Given the description of an element on the screen output the (x, y) to click on. 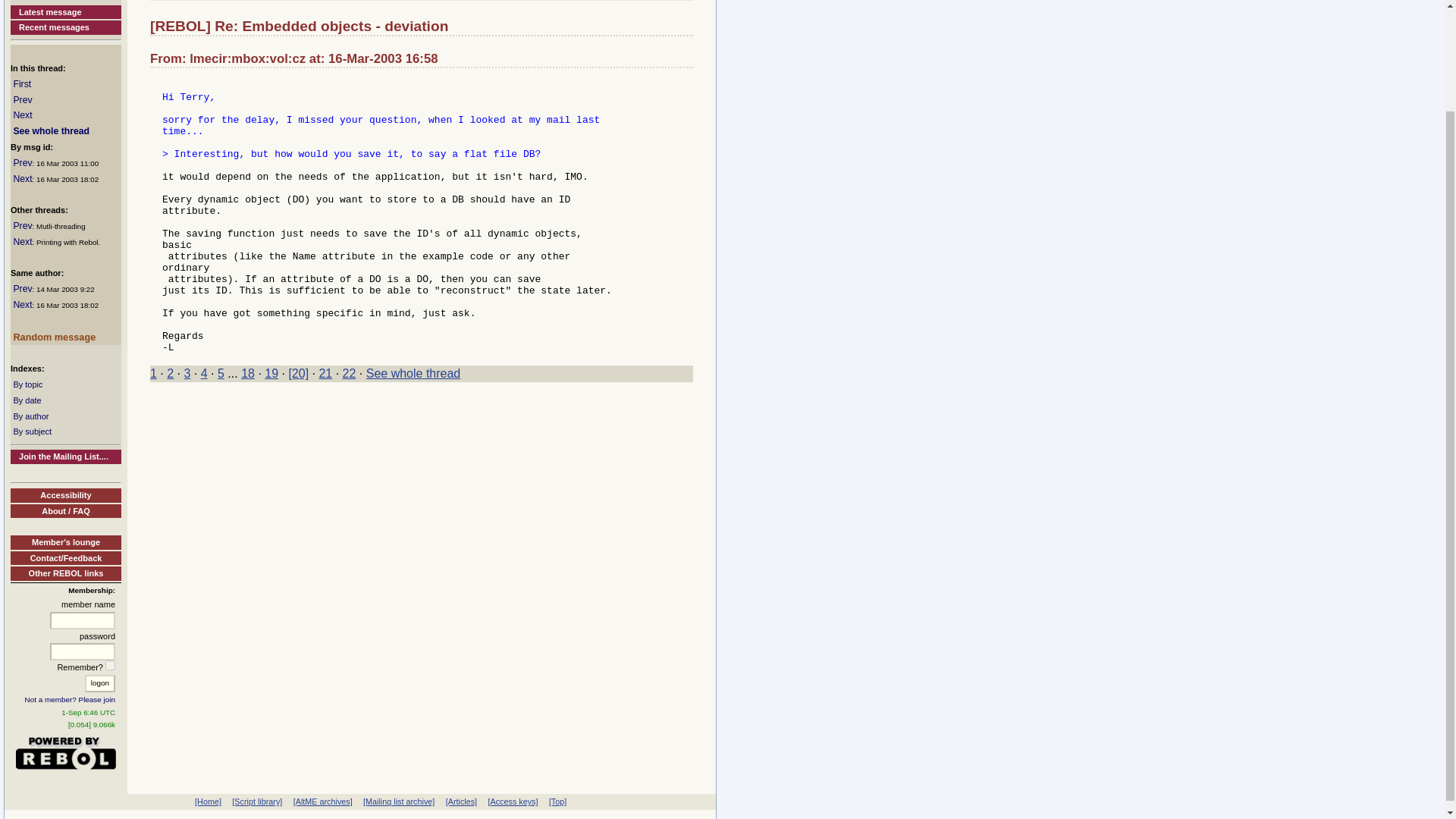
Random message (54, 337)
By author (30, 415)
Prev (22, 225)
Prev (22, 163)
Next (22, 178)
Prev (22, 100)
By topic (27, 384)
Next (22, 304)
Next (22, 114)
First (21, 83)
